Given the description of an element on the screen output the (x, y) to click on. 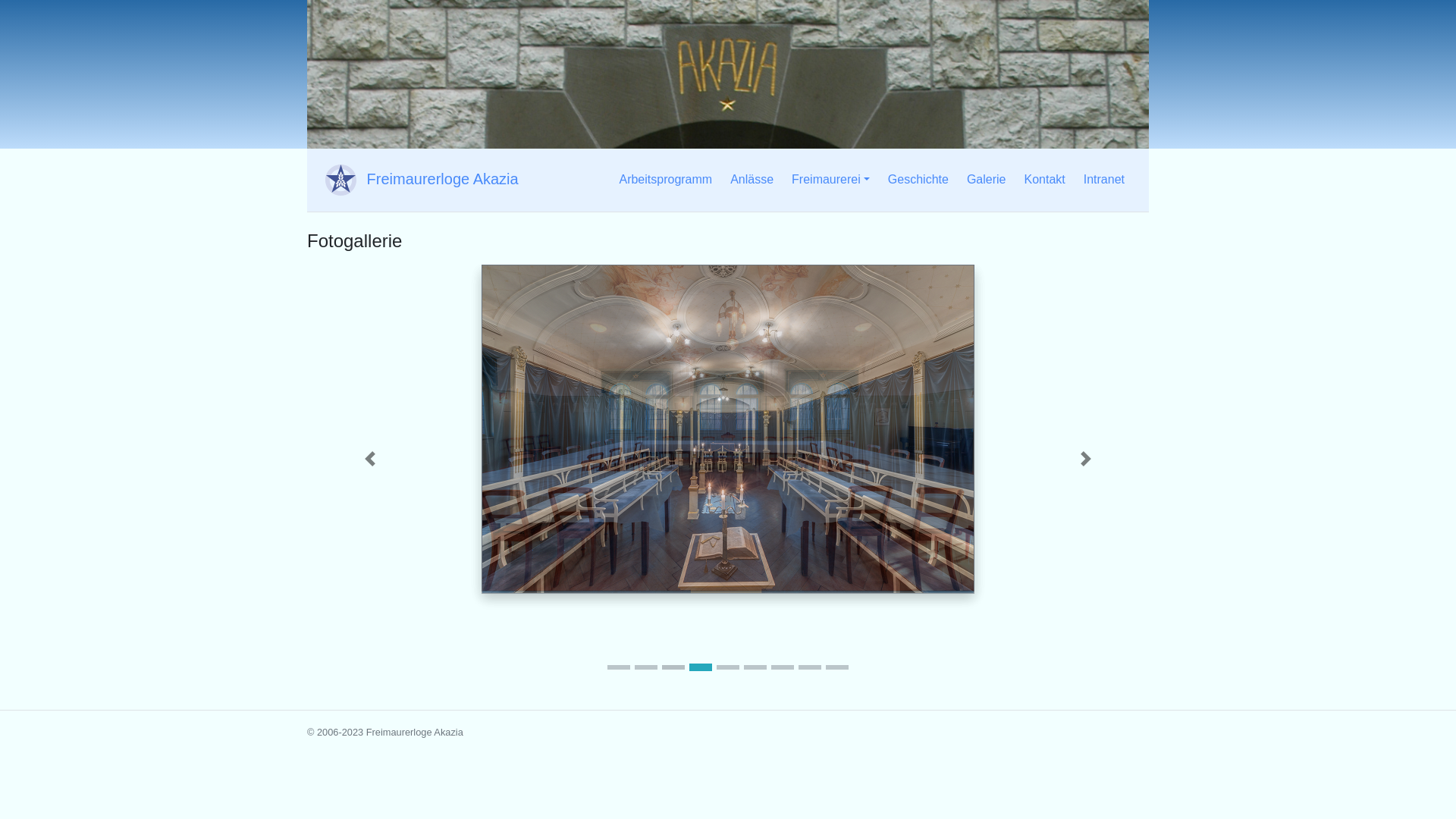
Kontakt Element type: text (1043, 179)
Geschichte Element type: text (917, 179)
Arbeitsprogramm Element type: text (665, 179)
Weiter Element type: text (1085, 458)
Intranet Element type: text (1103, 179)
Galerie Element type: text (986, 179)
Freimaurerloge Akazia Element type: text (418, 179)
Freimaurerei Element type: text (830, 179)
